Given the description of an element on the screen output the (x, y) to click on. 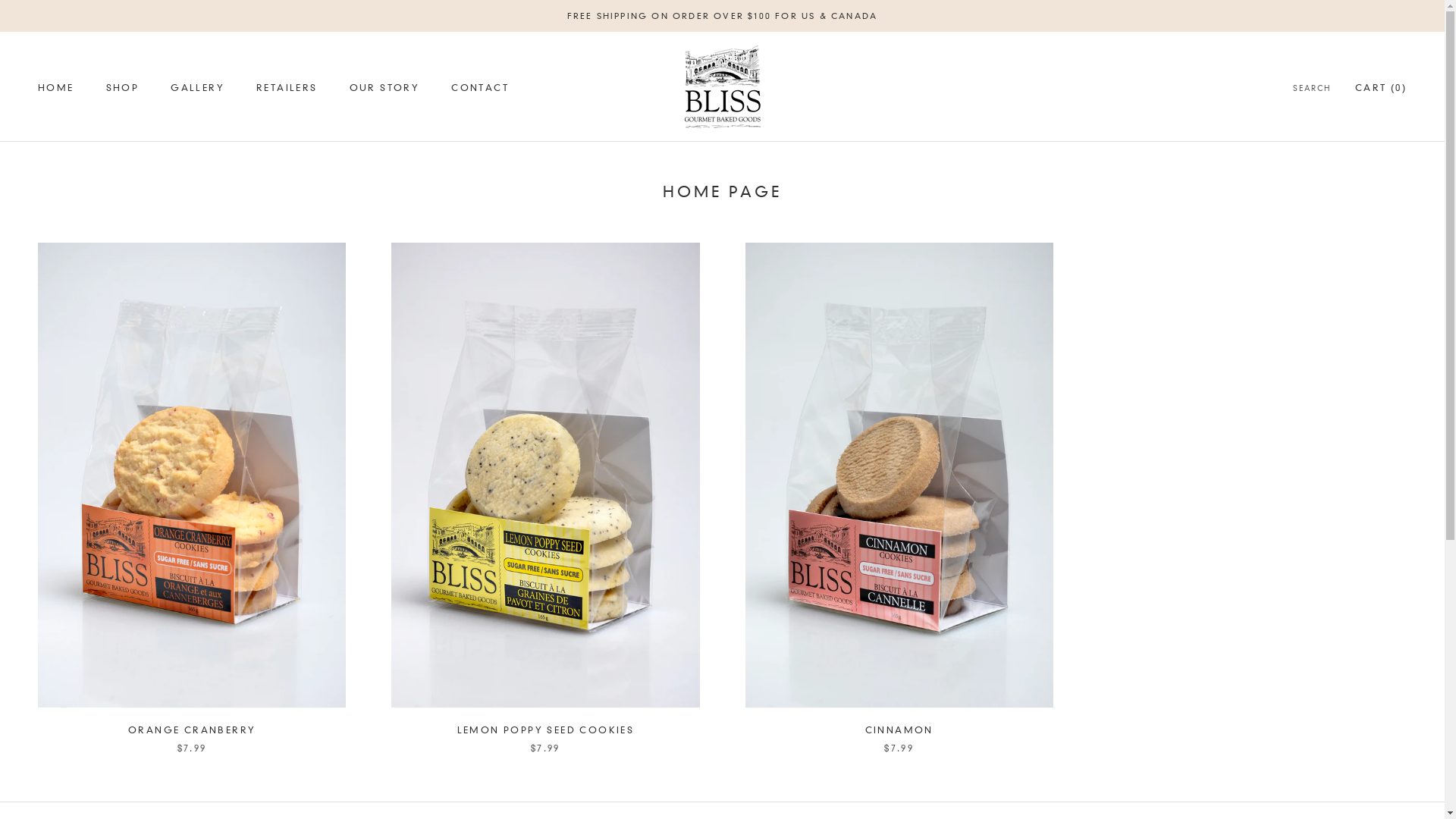
LEMON POPPY SEED COOKIES Element type: text (545, 729)
RETAILERS
RETAILERS Element type: text (286, 87)
OUR STORY
OUR STORY Element type: text (384, 87)
CINNAMON Element type: text (899, 729)
ORANGE CRANBERRY Element type: text (191, 729)
HOME
HOME Element type: text (55, 87)
CART (0) Element type: text (1380, 87)
SHOP
SHOP Element type: text (122, 87)
CONTACT
CONTACT Element type: text (479, 87)
SEARCH Element type: text (1311, 88)
GALLERY
GALLERY Element type: text (197, 87)
